Given the description of an element on the screen output the (x, y) to click on. 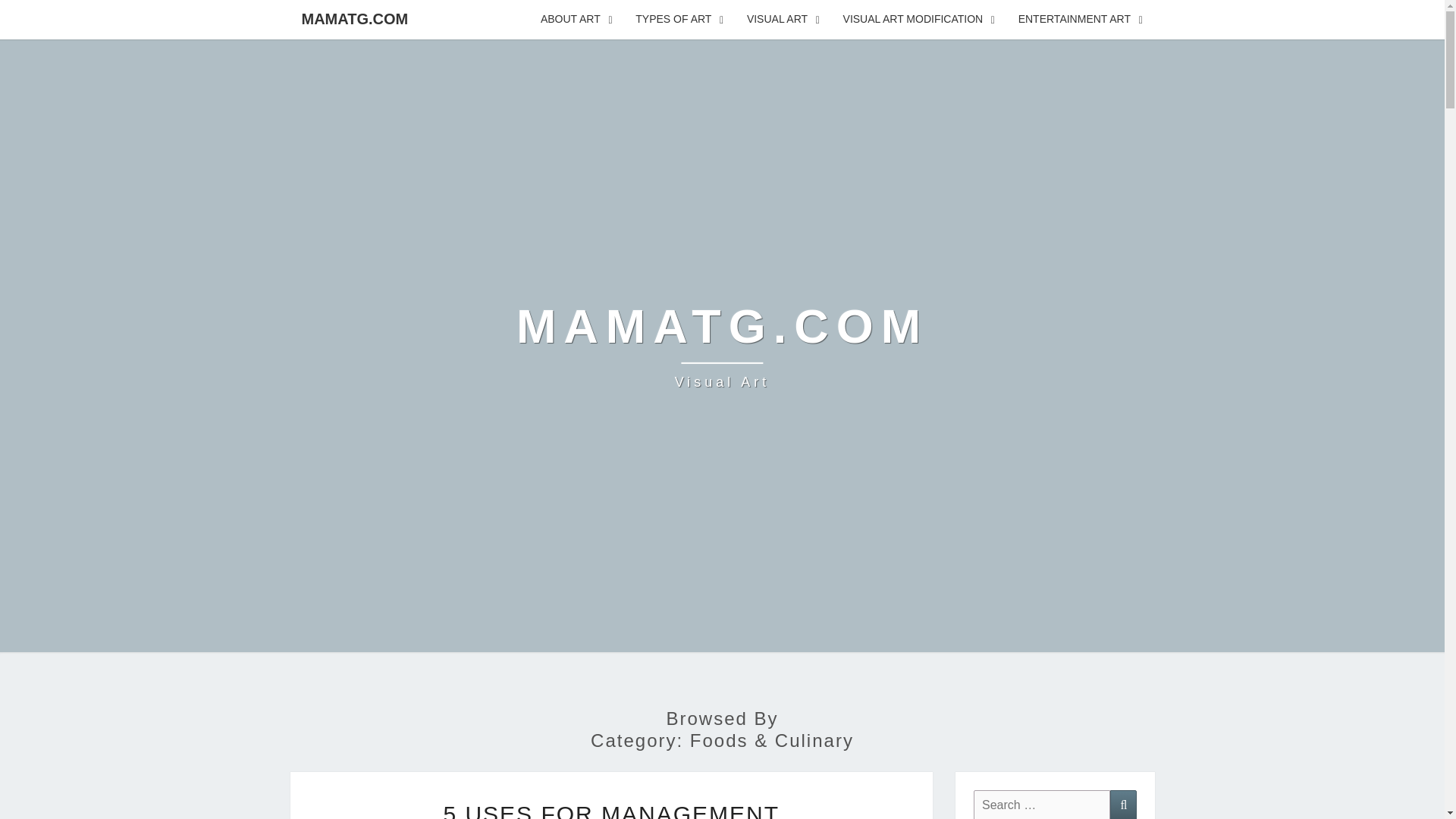
VISUAL ART MODIFICATION (919, 19)
Search for: (1041, 804)
5 USES FOR MANAGEMENT (610, 810)
ABOUT ART (576, 19)
ENTERTAINMENT ART (1080, 19)
TYPES OF ART (679, 19)
MAMATG.COM (354, 18)
VISUAL ART (783, 19)
mamatg.com (722, 345)
